Given the description of an element on the screen output the (x, y) to click on. 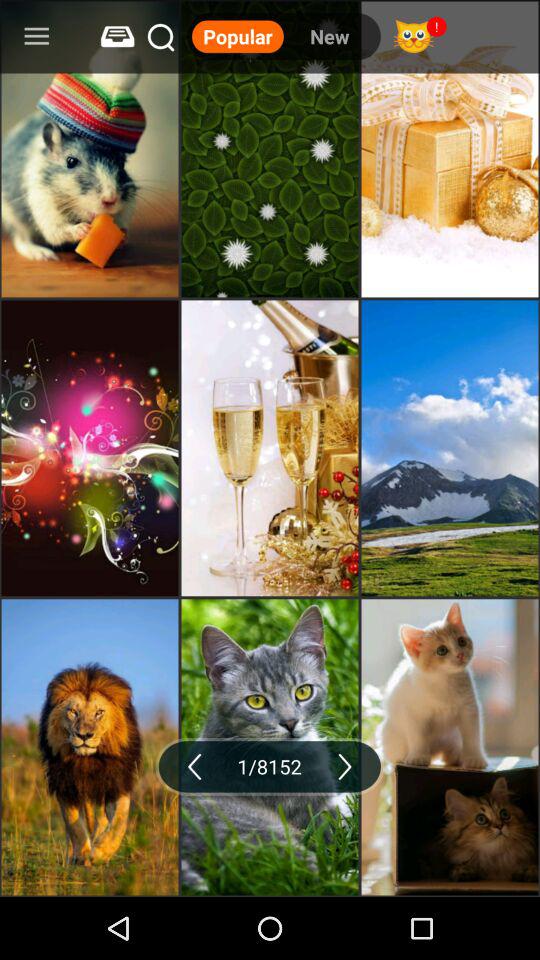
click the 1/8152 icon (269, 766)
